Given the description of an element on the screen output the (x, y) to click on. 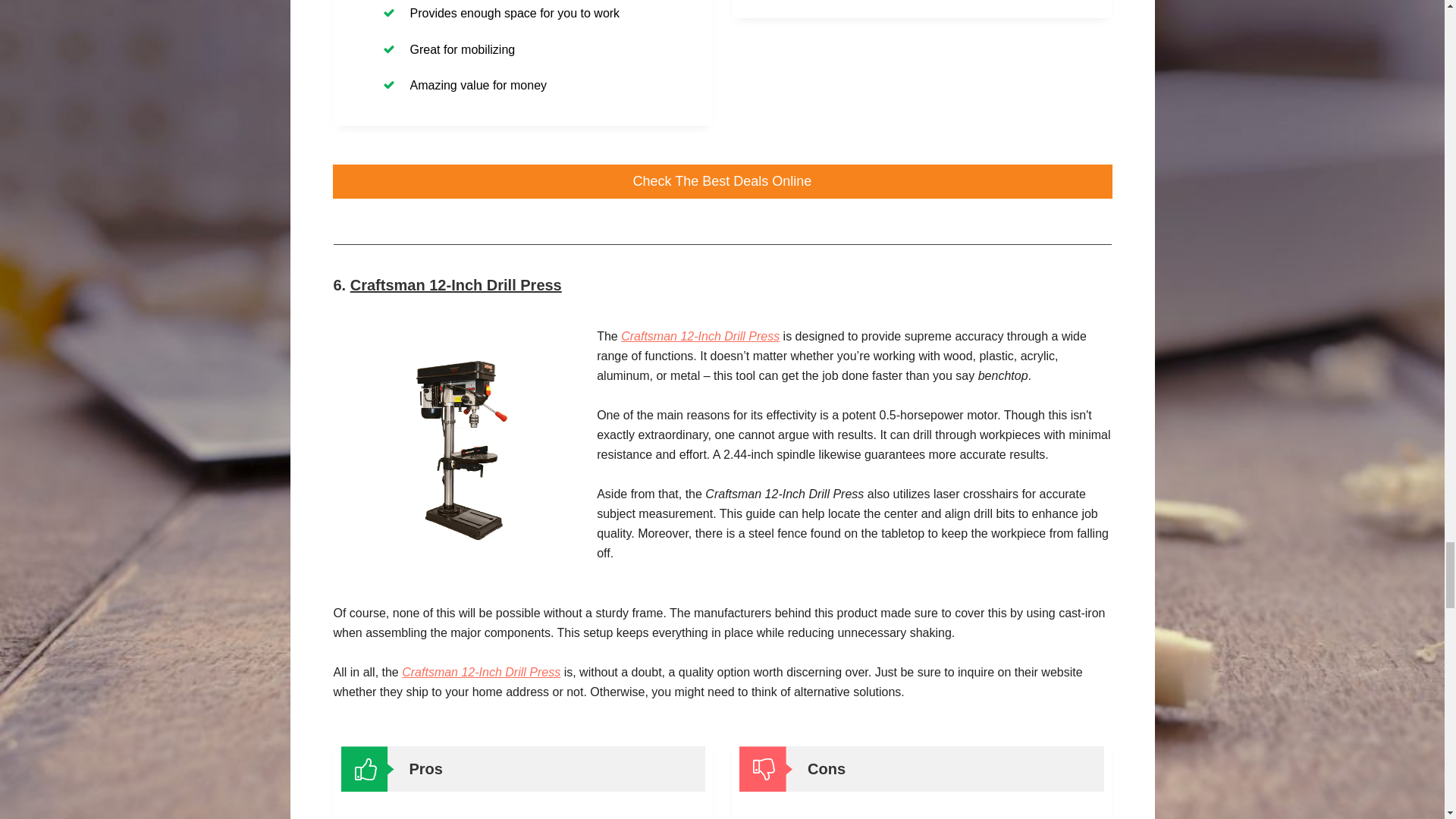
Craftsman 12 in. Drill Press (458, 447)
